Given the description of an element on the screen output the (x, y) to click on. 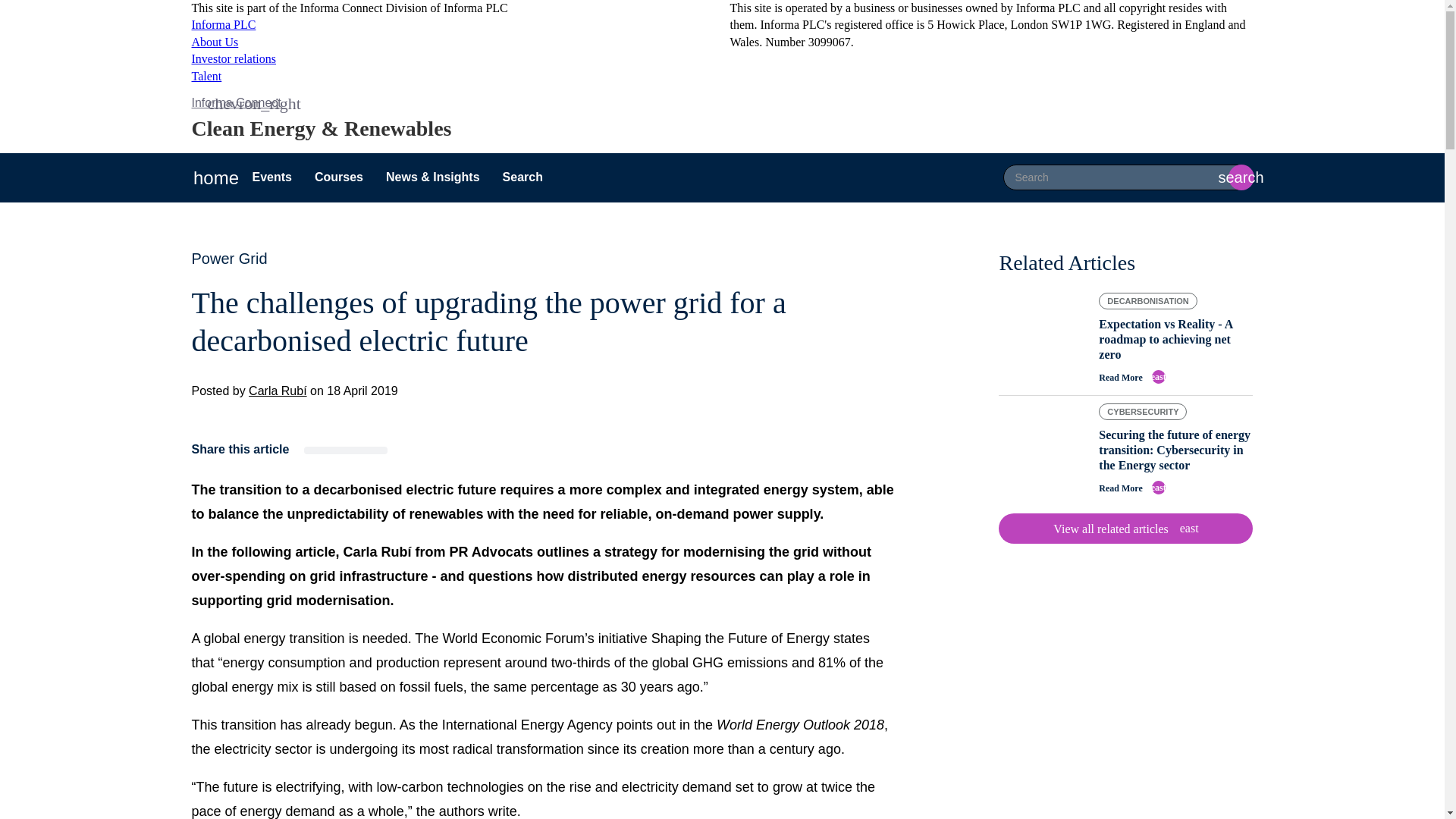
About Us (214, 42)
Talent (205, 75)
Investor relations (233, 58)
home (215, 177)
Search (522, 177)
Informa Connect (1125, 528)
Informa PLC (235, 102)
Courses (223, 24)
Events (338, 177)
